Given the description of an element on the screen output the (x, y) to click on. 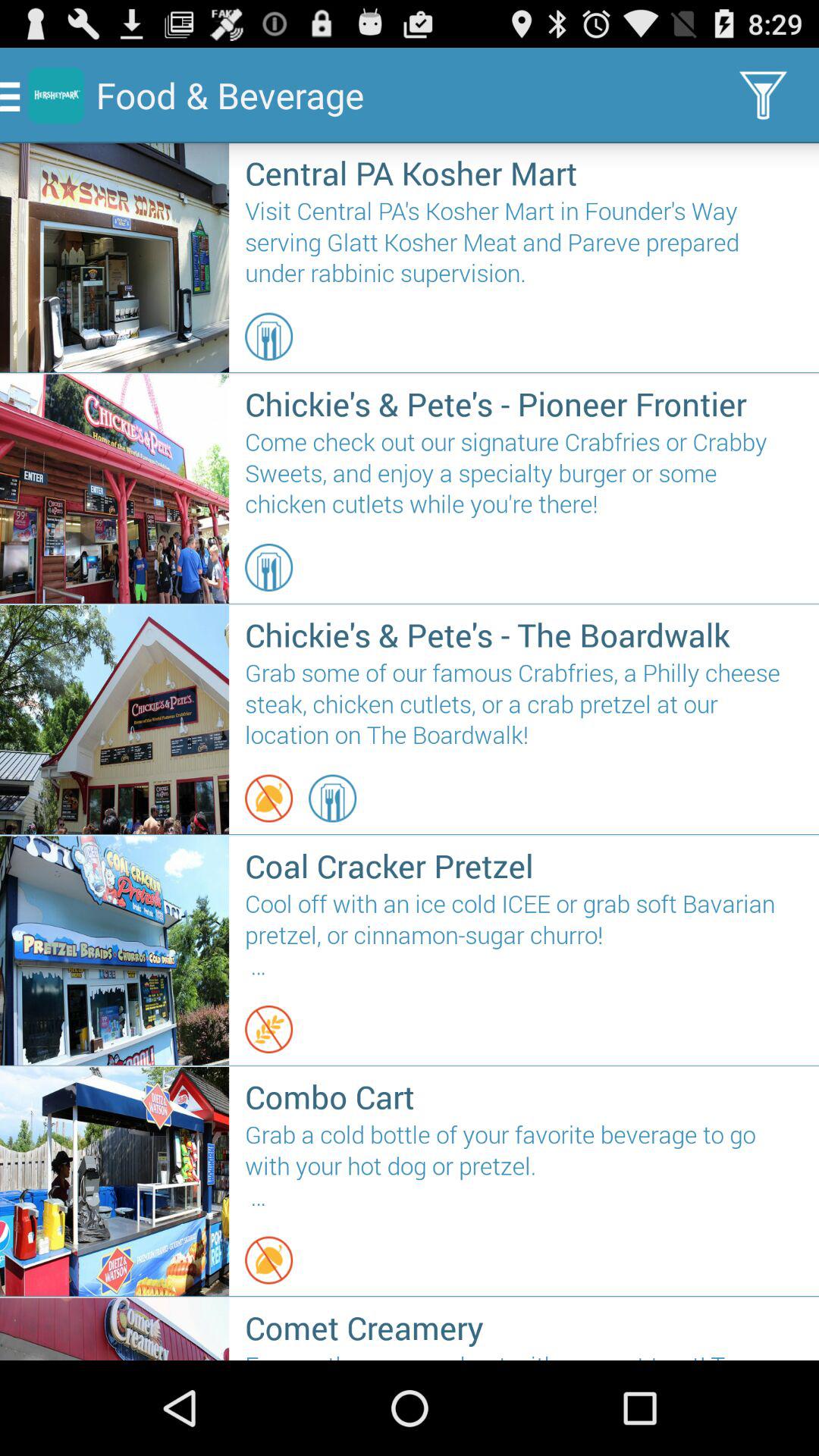
select the icon above the grab a cold item (524, 1096)
